Given the description of an element on the screen output the (x, y) to click on. 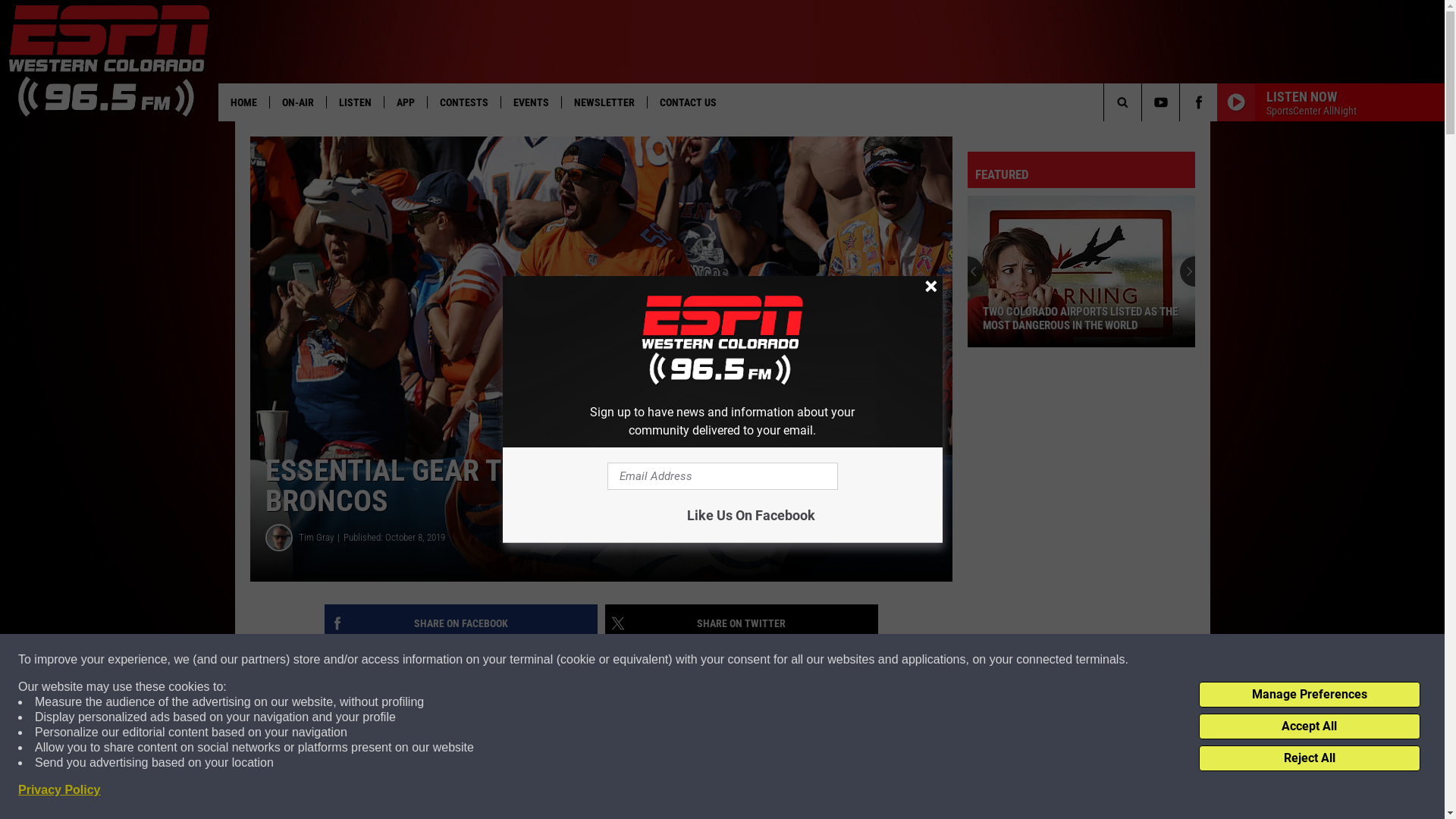
Tim Gray Element type: text (278, 537)
ON-AIR Element type: text (297, 102)
Manage Preferences Element type: text (1309, 694)
Tim Gray Element type: text (320, 537)
EVENTS Element type: text (530, 102)
CONTACT US Element type: text (687, 102)
HOME Element type: text (243, 102)
Accept All Element type: text (1309, 726)
Visit us on Youtube Element type: text (1160, 102)
CONTESTS Element type: text (463, 102)
Visit us on Facebook Element type: text (1198, 102)
APP Element type: text (404, 102)
Close Element type: hover (930, 287)
Reject All Element type: text (1309, 758)
LISTEN Element type: text (354, 102)
SEARCH Element type: text (1146, 102)
Privacy Policy Element type: text (59, 789)
NEWSLETTER Element type: text (603, 102)
SHARE ON TWITTER Element type: text (741, 623)
LISTEN NOW
SportsCenter AllNight Element type: text (1330, 102)
SHARE ON FACEBOOK Element type: text (460, 623)
